Given the description of an element on the screen output the (x, y) to click on. 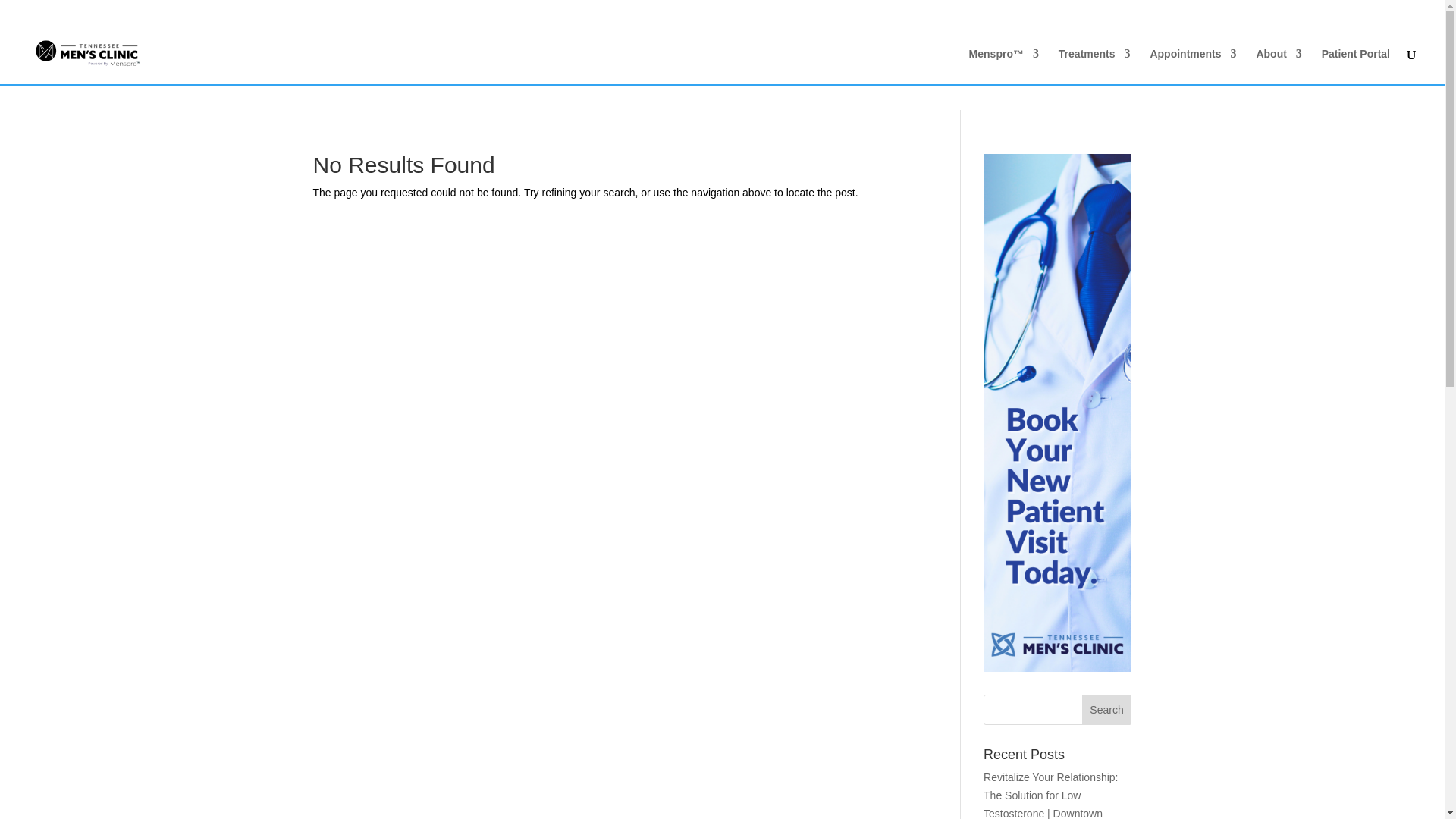
Treatments (1094, 66)
Search (1106, 709)
Appointments (1193, 66)
Patient Portal (1356, 66)
About (1278, 66)
